Given the description of an element on the screen output the (x, y) to click on. 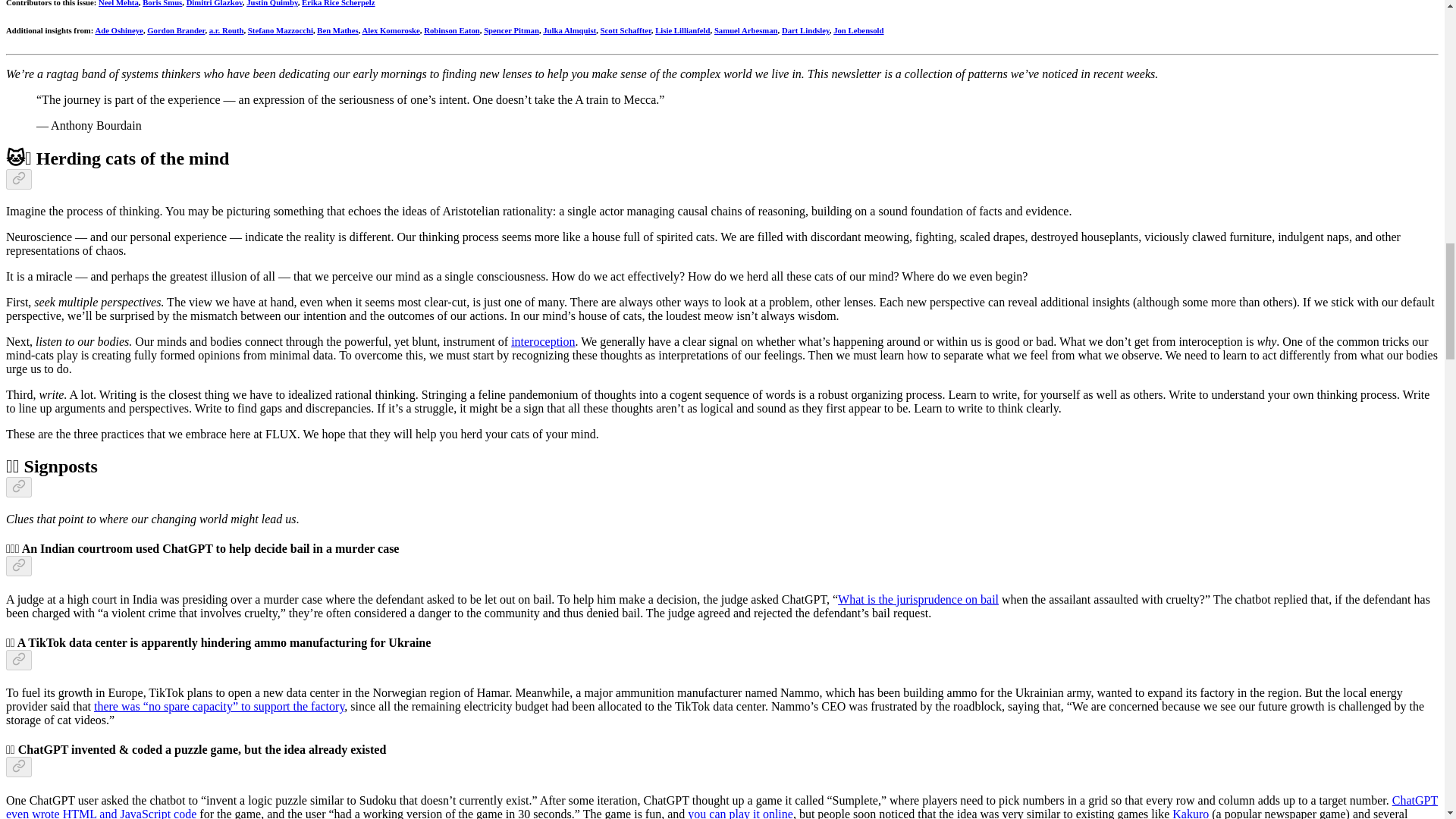
Justin Quimby (272, 3)
Samuel Arbesman (745, 30)
Ade Oshineye (118, 30)
a.r. Routh (226, 30)
Dimitri Glazkov (214, 3)
Erika Rice Scherpelz (337, 3)
Lisie Lillianfeld (682, 30)
Gordon Brander (176, 30)
Boris Smus (162, 3)
Julka Almquist (569, 30)
Scott Schaffter (624, 30)
Spencer Pitman (510, 30)
Robinson Eaton (451, 30)
Alex Komoroske (391, 30)
Stefano Mazzocchi (280, 30)
